Given the description of an element on the screen output the (x, y) to click on. 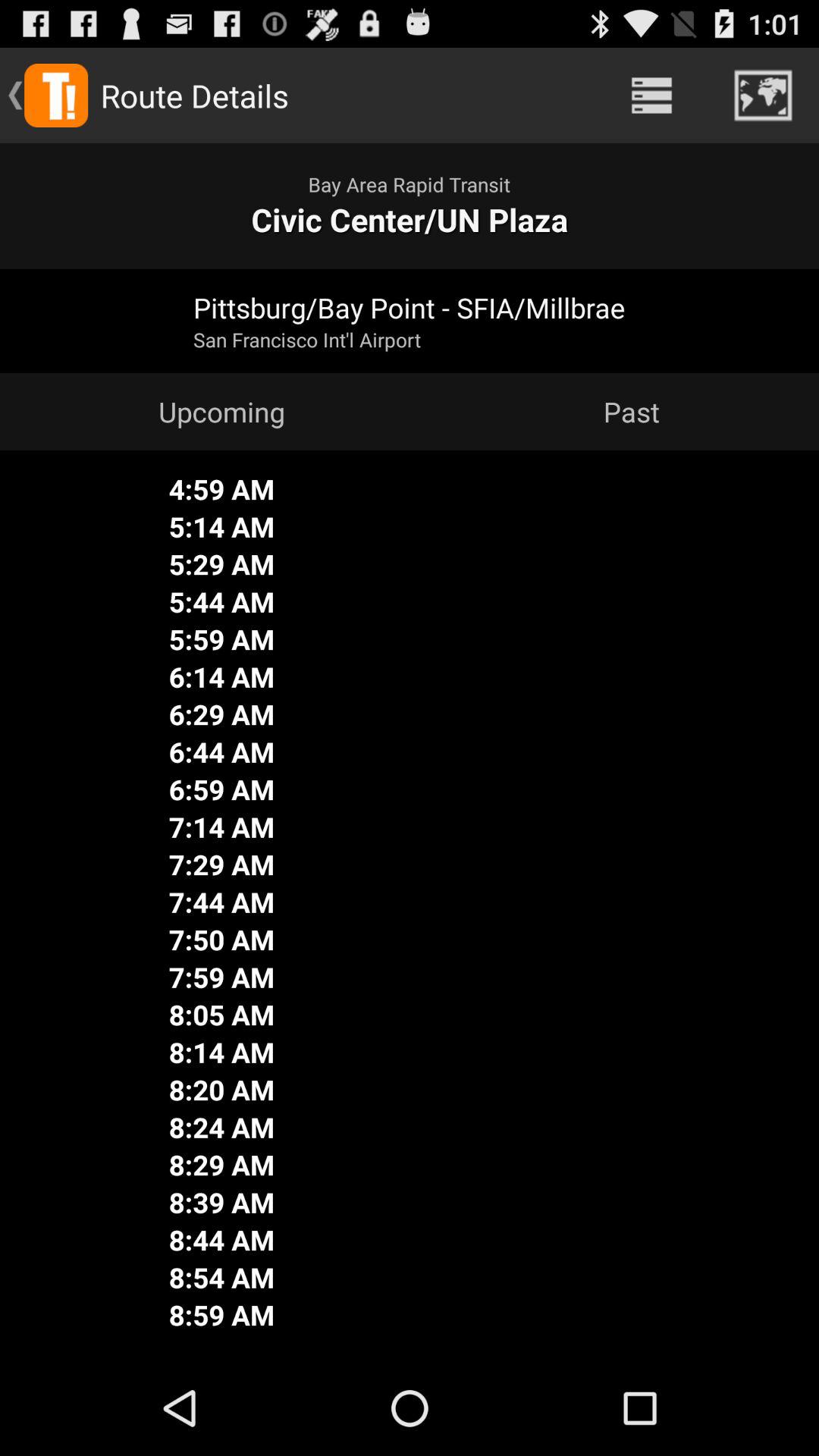
turn off item above civic center un item (763, 95)
